Given the description of an element on the screen output the (x, y) to click on. 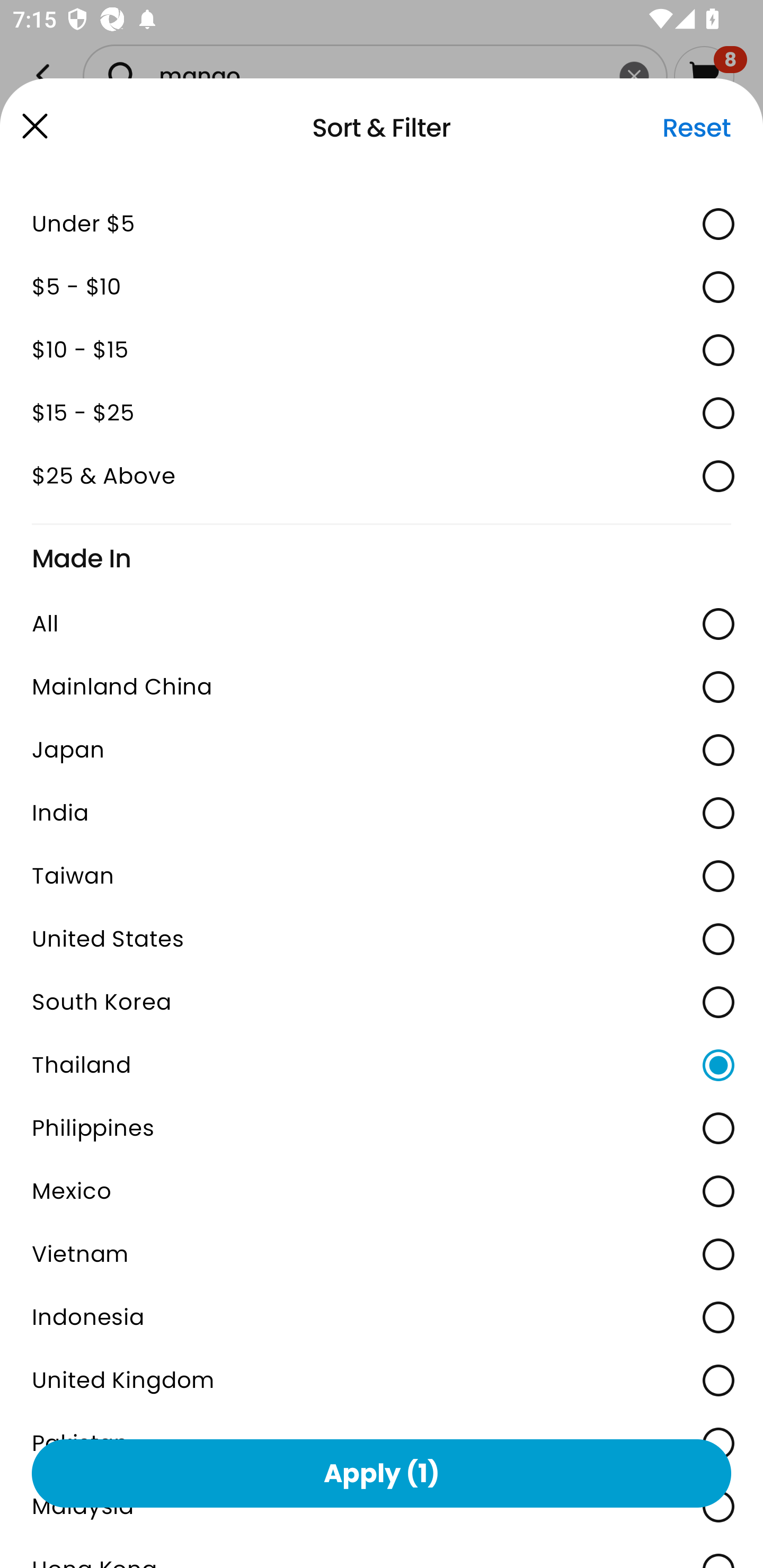
Reset (696, 127)
